Given the description of an element on the screen output the (x, y) to click on. 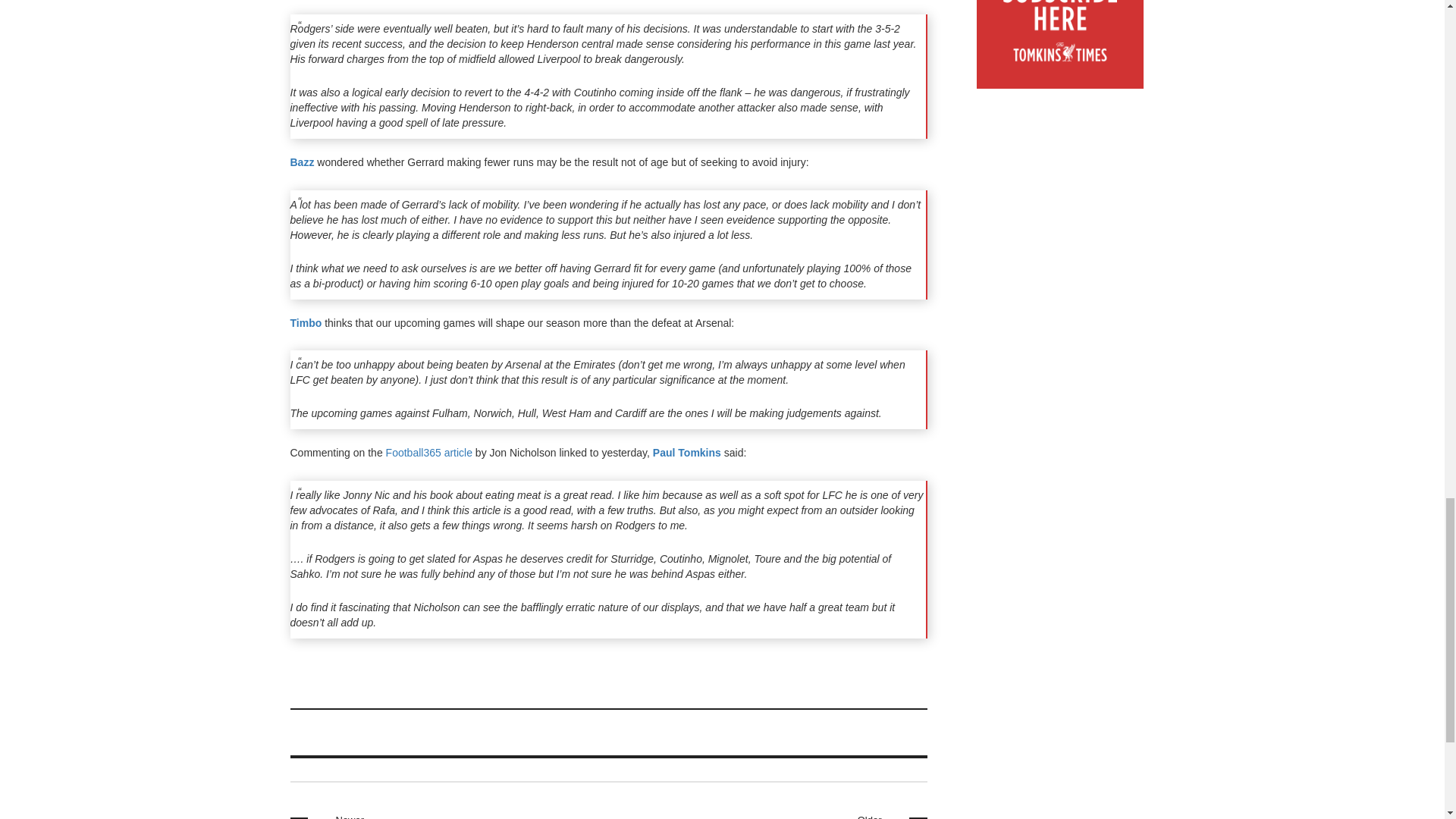
Paul Tomkins (686, 452)
Timbo (820, 816)
Bazz (305, 322)
Football365 article (301, 162)
